Given the description of an element on the screen output the (x, y) to click on. 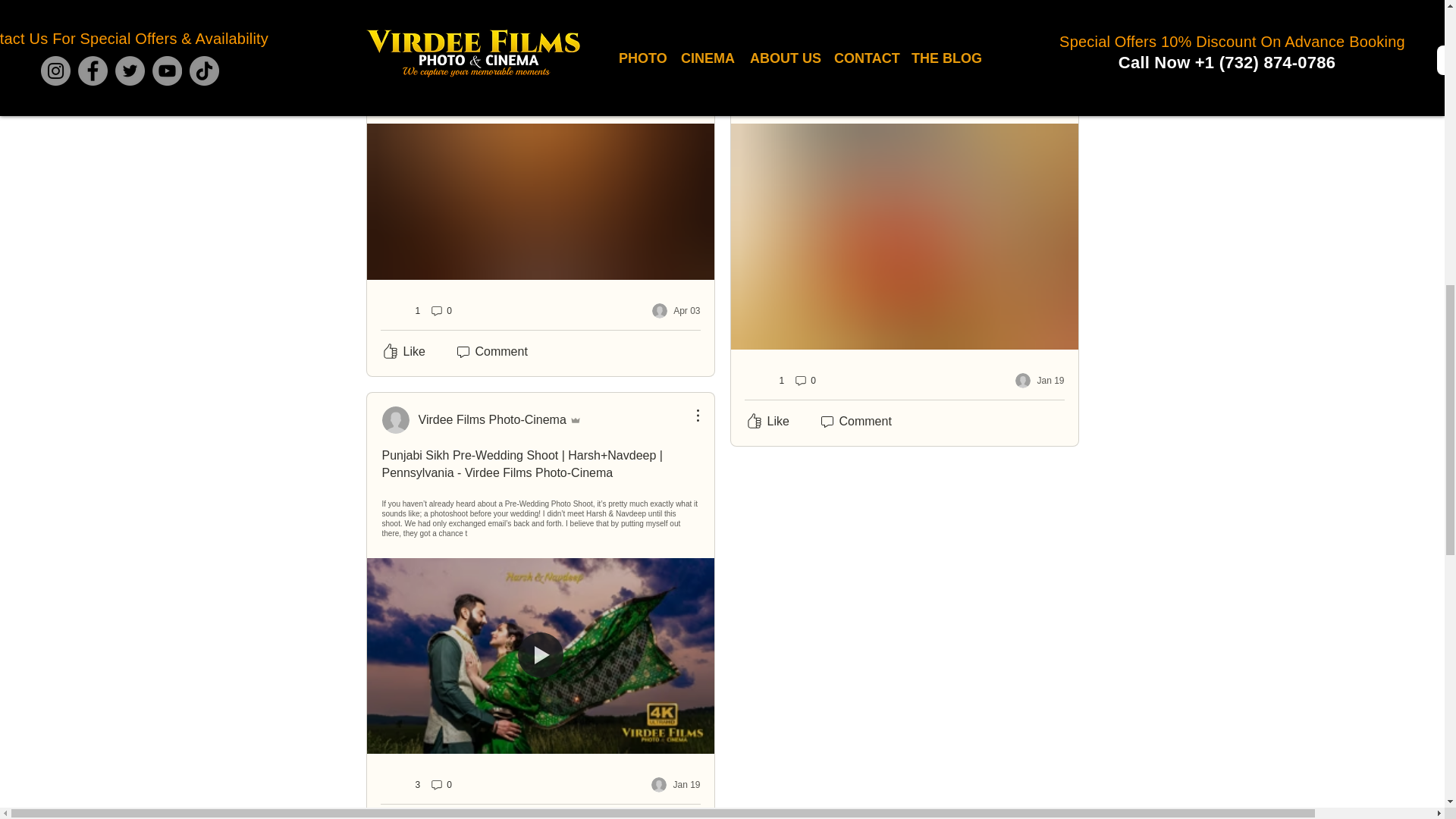
Virdee Films Photo-Cinema (480, 420)
1 (402, 310)
Comment (489, 352)
Like (402, 352)
0 (440, 784)
Comment (489, 817)
Like (402, 817)
3 (402, 784)
0 (440, 311)
